Given the description of an element on the screen output the (x, y) to click on. 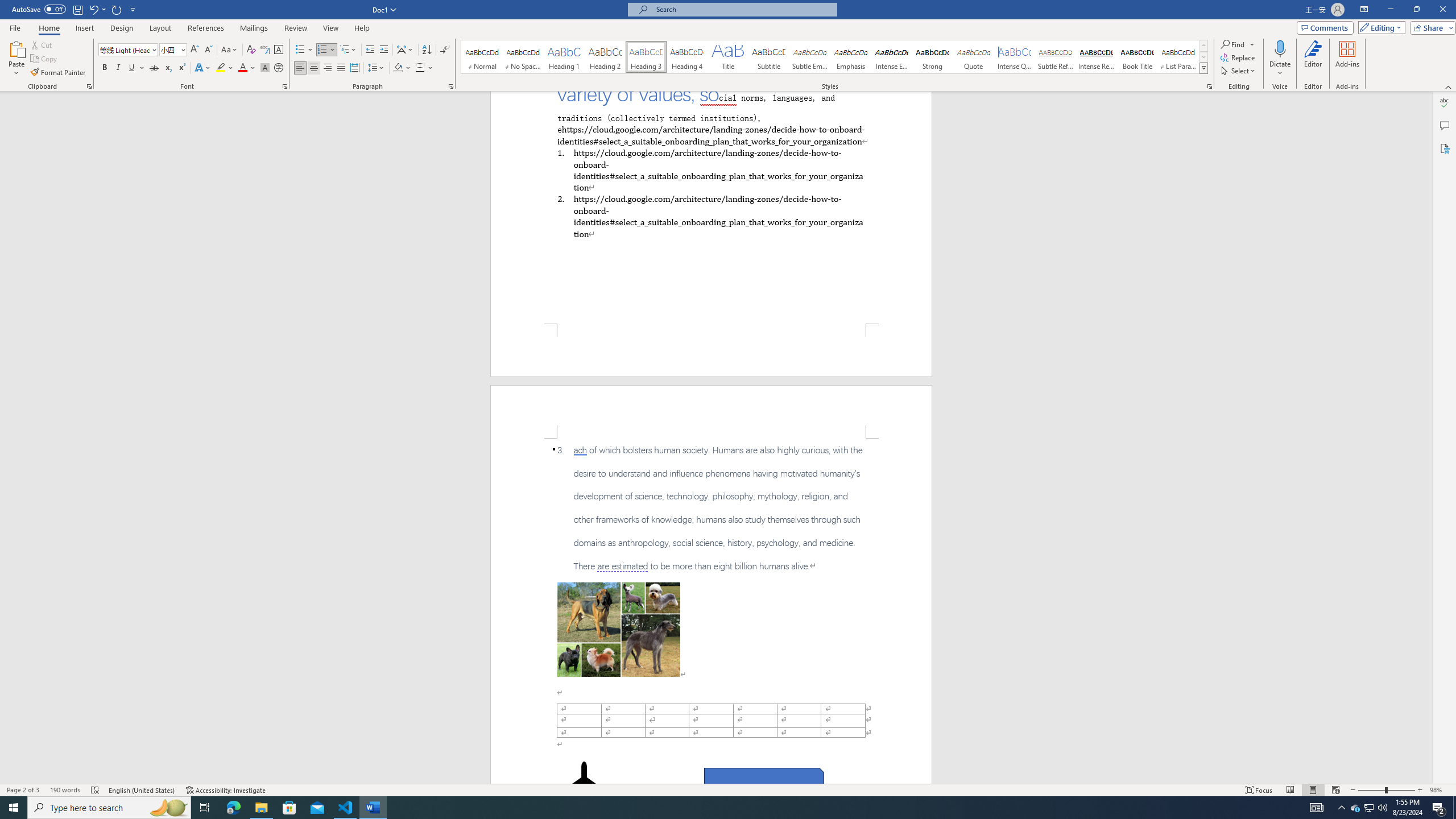
Morphological variation in six dogs (618, 629)
